Given the description of an element on the screen output the (x, y) to click on. 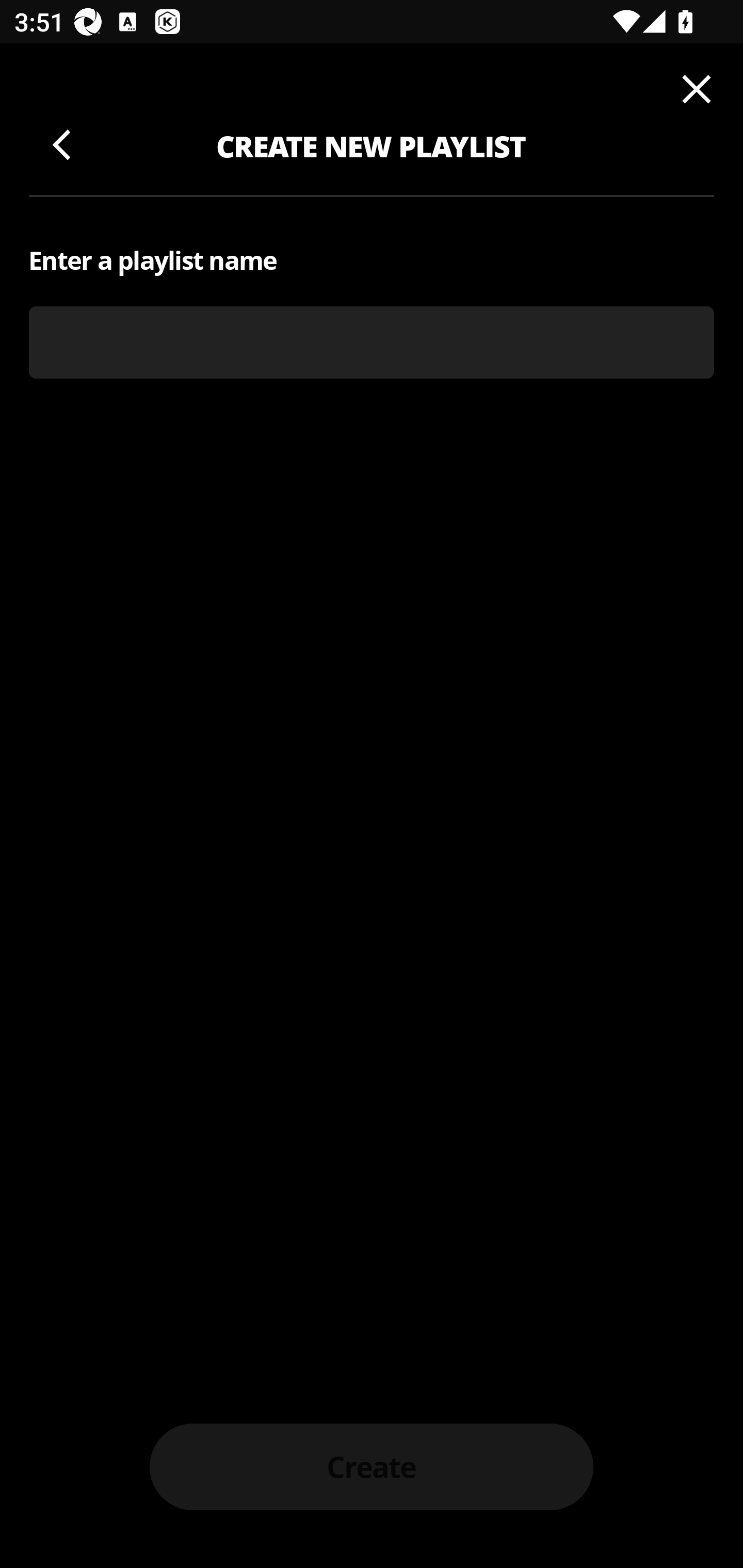
Queue (693, 93)
All Country Afrosounds Pop Caribbean (371, 275)
